Given the description of an element on the screen output the (x, y) to click on. 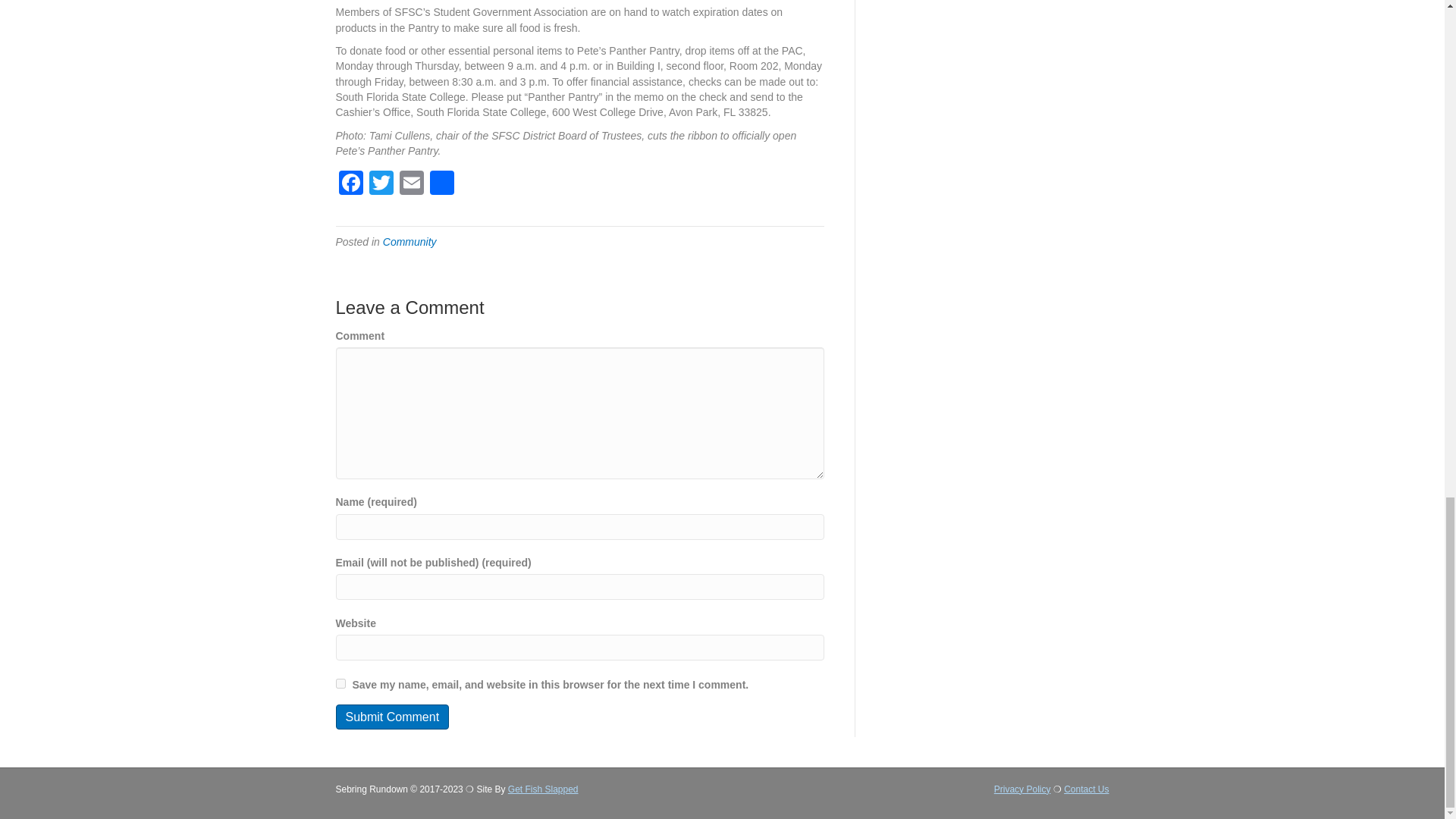
Submit Comment (391, 716)
Facebook (349, 184)
Email (411, 184)
yes (339, 683)
Twitter (380, 184)
